Given the description of an element on the screen output the (x, y) to click on. 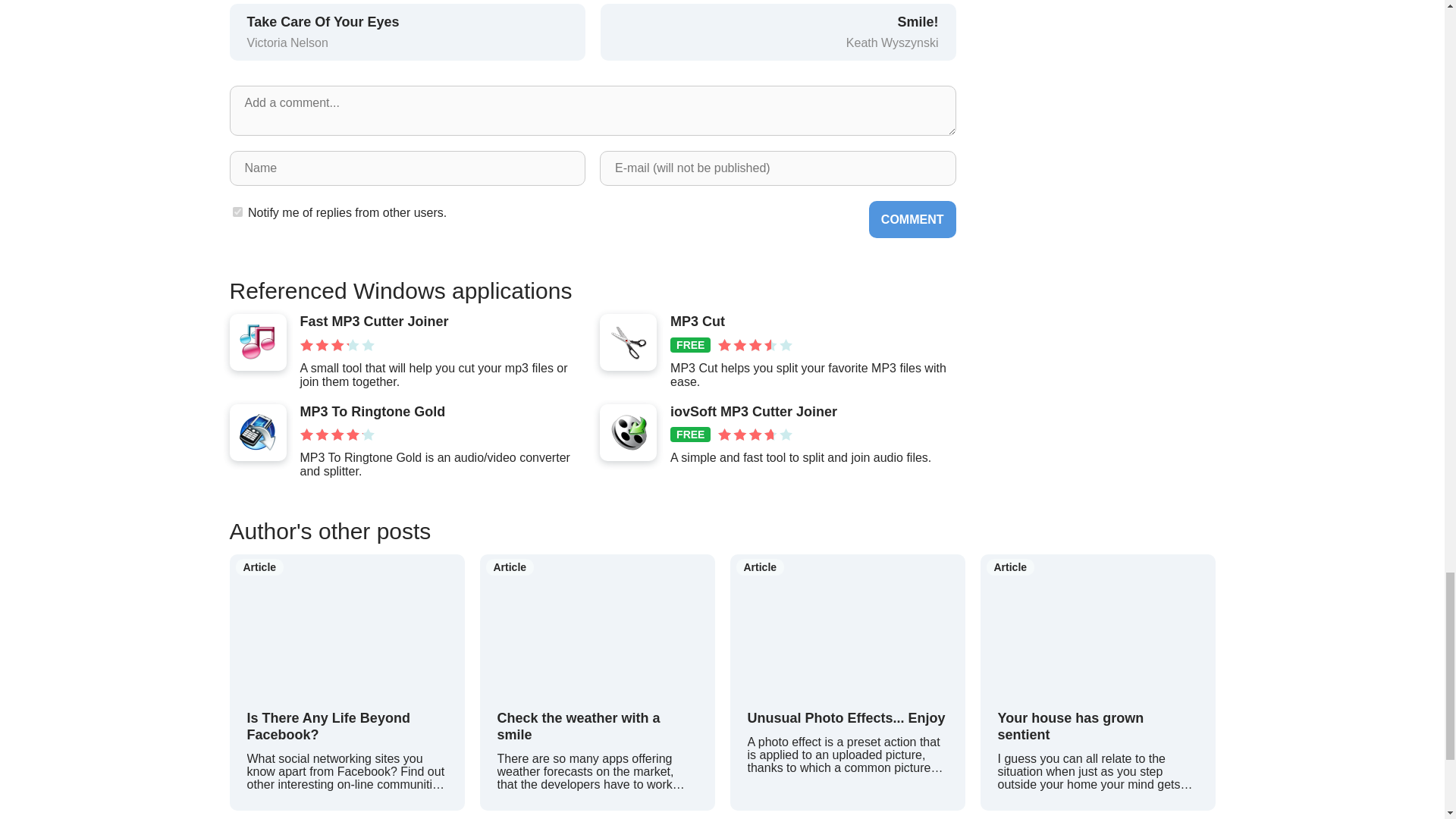
MP3 Cut (812, 321)
Comment (912, 219)
MP3 To Ringtone Gold (442, 412)
Comment (912, 219)
Fast MP3 Cutter Joiner (442, 321)
Fast MP3 Cutter Joiner (442, 321)
MP3 To Ringtone Gold (777, 30)
iovSoft MP3 Cutter Joiner (442, 412)
MP3 Cut (800, 412)
